Given the description of an element on the screen output the (x, y) to click on. 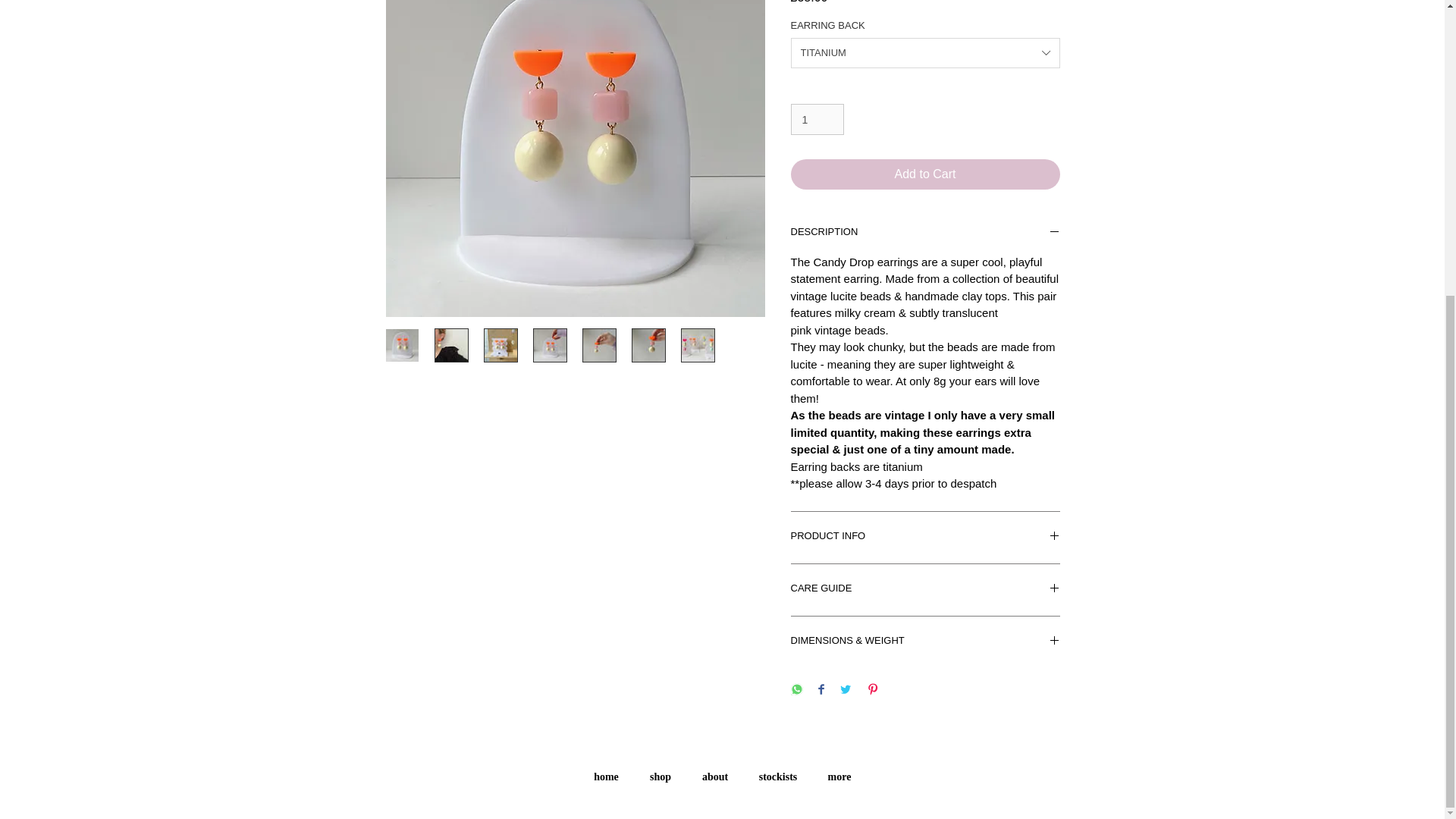
DESCRIPTION (924, 233)
PRODUCT INFO (924, 537)
TITANIUM (924, 52)
CARE GUIDE (924, 589)
1 (817, 119)
about (715, 776)
shop (659, 776)
home (605, 776)
Add to Cart (924, 173)
